Given the description of an element on the screen output the (x, y) to click on. 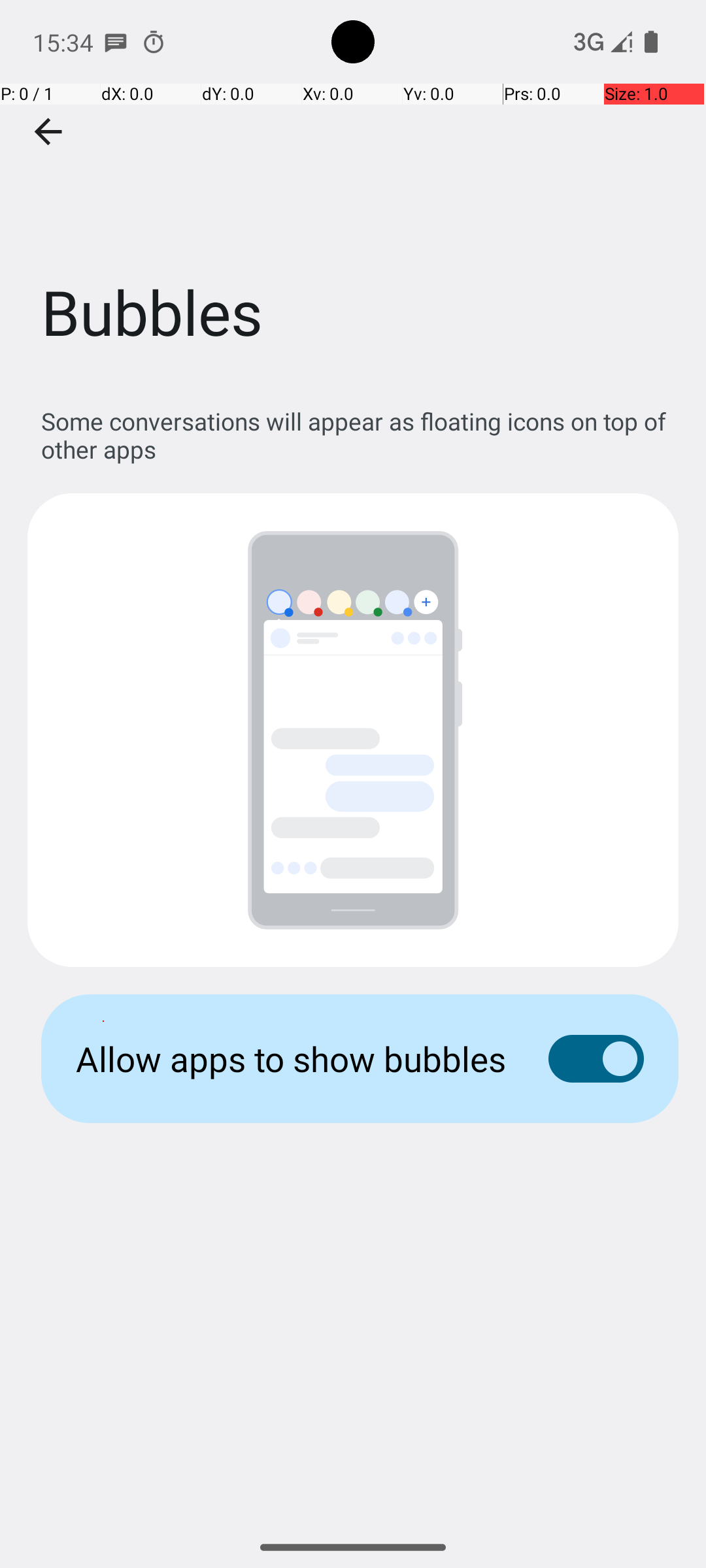
Some conversations will appear as floating icons on top of other apps Element type: android.widget.TextView (359, 434)
Allow apps to show bubbles Element type: android.widget.TextView (291, 1058)
